Given the description of an element on the screen output the (x, y) to click on. 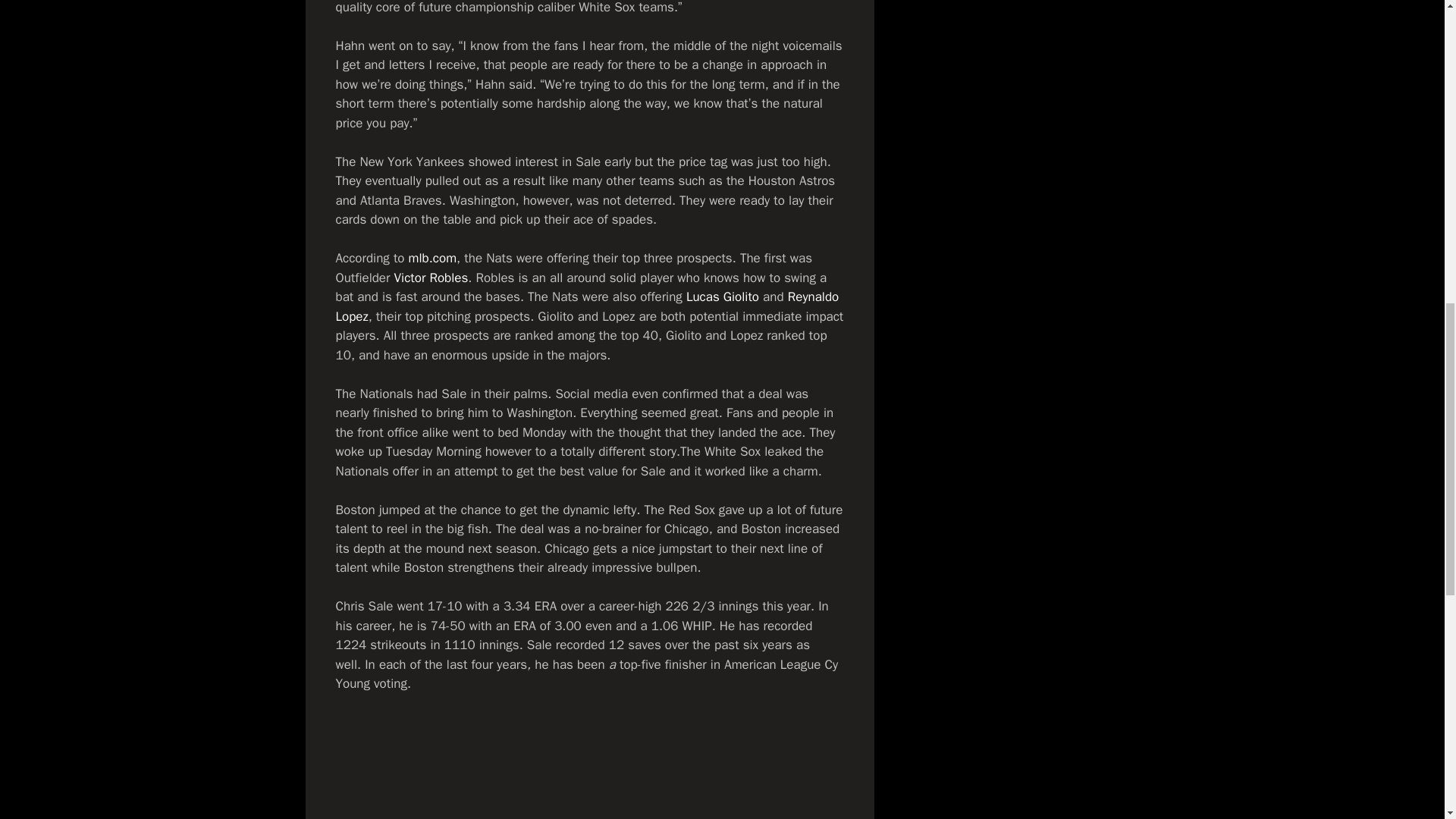
Victor Robles (431, 277)
Lucas Giolito (721, 296)
mlb.com (433, 258)
Reynaldo Lopez (586, 306)
Chris Sale Ultimate 2016 Highlights (588, 765)
